Given the description of an element on the screen output the (x, y) to click on. 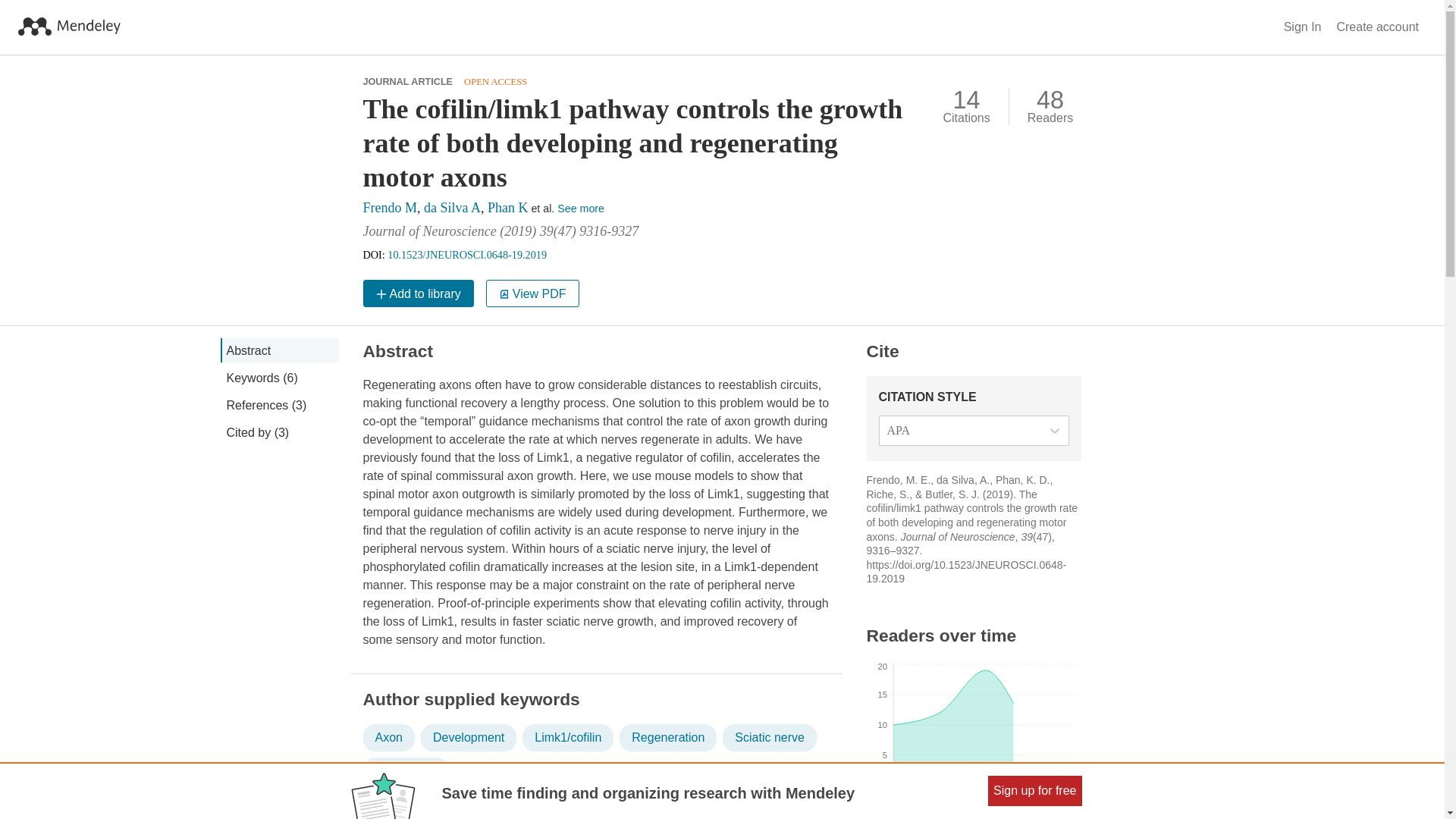
Sign In (1303, 27)
Axon (387, 737)
Frendo M (389, 207)
Regeneration (668, 737)
Spinal cord (404, 770)
Create account (1377, 27)
Add to library (417, 293)
da Silva A (451, 207)
View PDF (532, 293)
Phan K (507, 207)
See more (580, 208)
Abstract (278, 350)
Development (468, 737)
Sciatic nerve (769, 737)
